Given the description of an element on the screen output the (x, y) to click on. 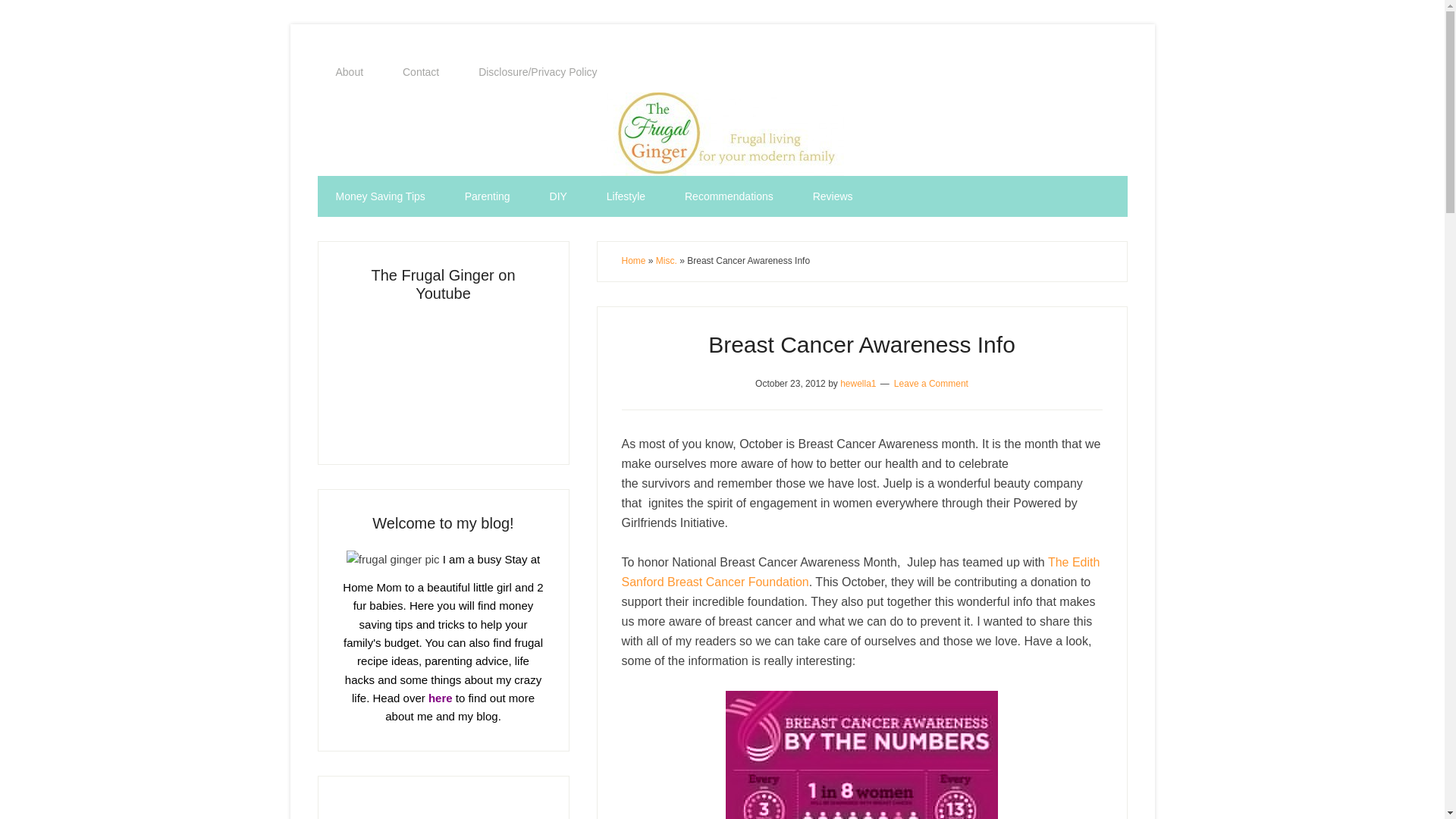
hewella1 (858, 382)
Home (633, 260)
Lifestyle (625, 196)
DIY (558, 196)
The Edith Sanford Breast Cancer Foundation (860, 572)
Reviews (832, 196)
Recommendations (729, 196)
The Frugal Ginger (721, 134)
Frugal Living (443, 377)
Misc. (666, 260)
